Given the description of an element on the screen output the (x, y) to click on. 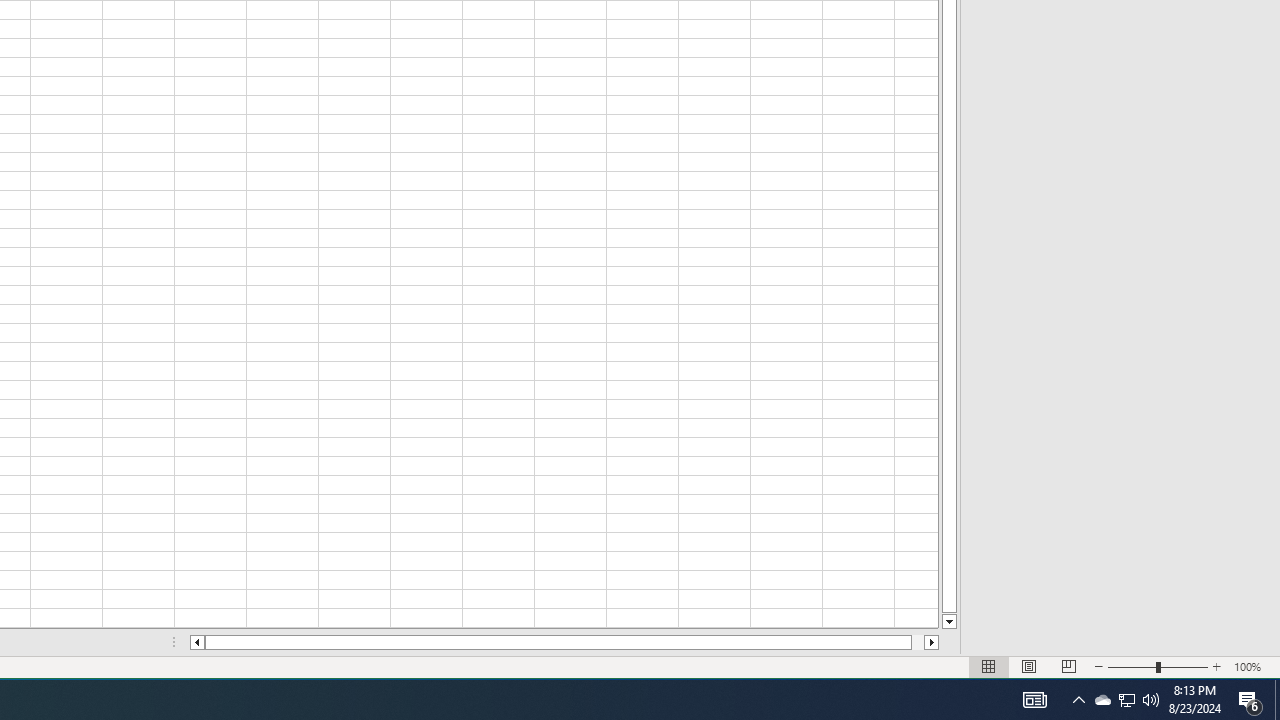
Action Center, 6 new notifications (1250, 699)
User Promoted Notification Area (1126, 699)
